Given the description of an element on the screen output the (x, y) to click on. 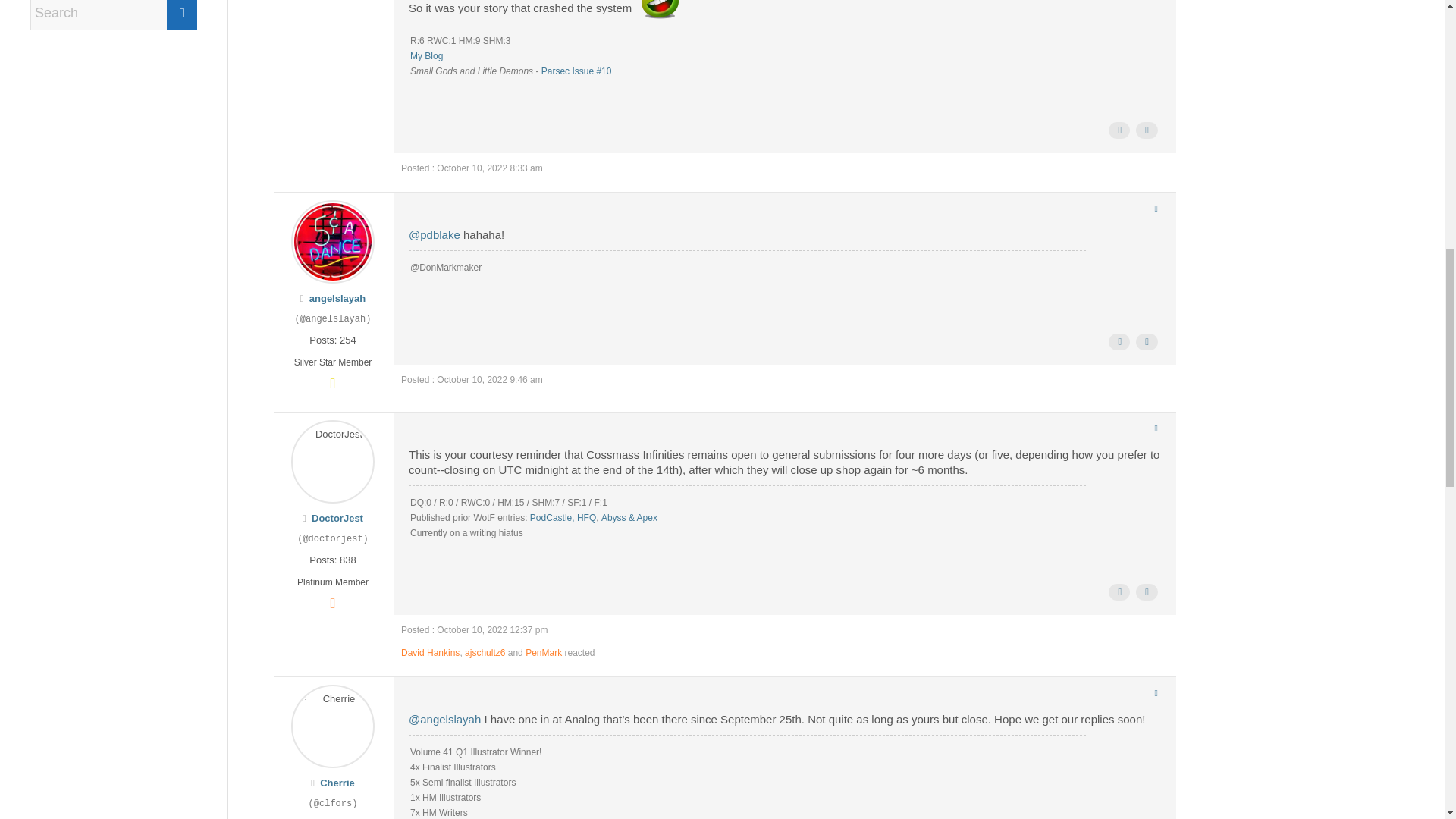
angelslayah (336, 297)
My Blog (426, 55)
Click to start search (181, 15)
